Given the description of an element on the screen output the (x, y) to click on. 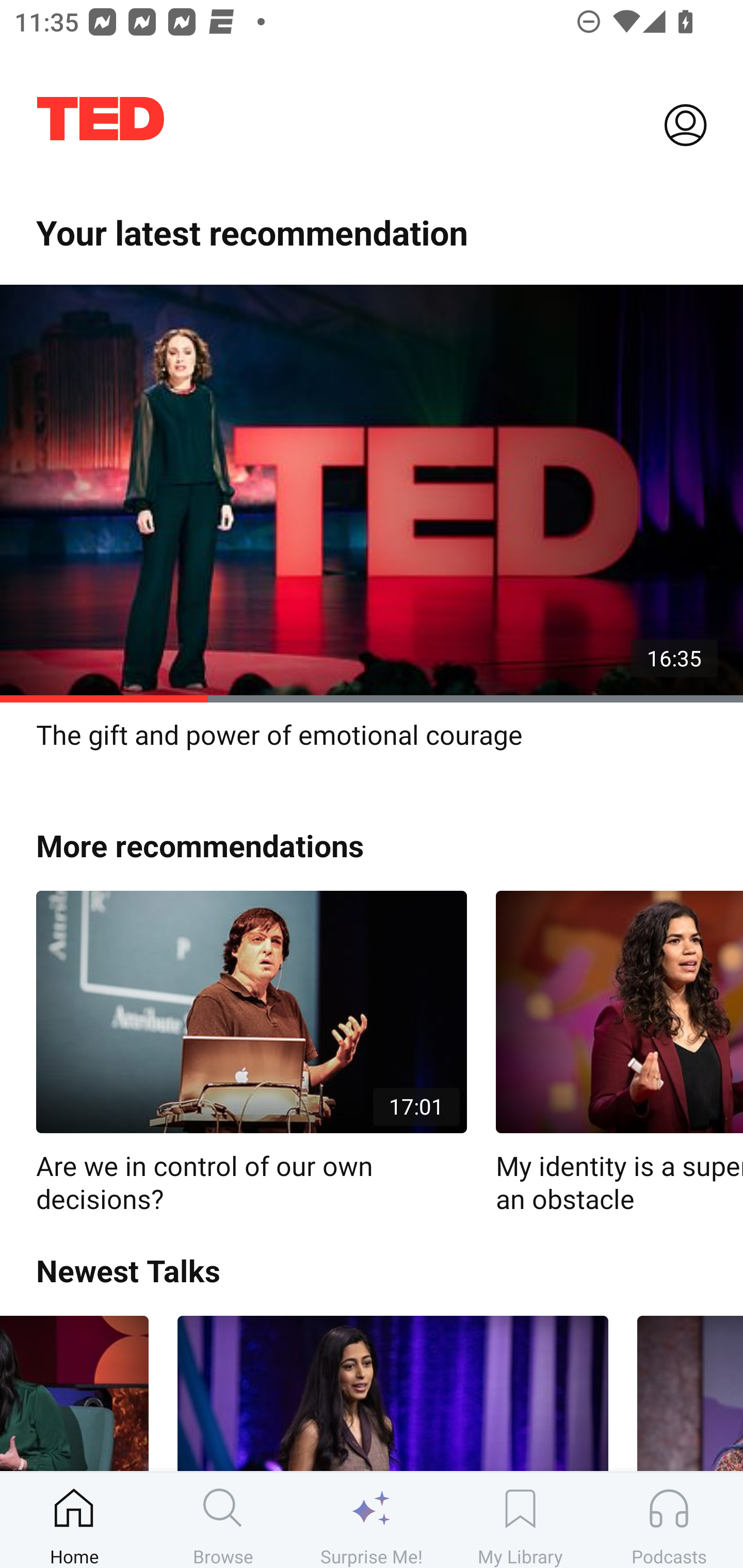
17:01 Are we in control of our own decisions? (251, 1053)
My identity is a superpower -- not an obstacle (619, 1053)
Home (74, 1520)
Browse (222, 1520)
Surprise Me! (371, 1520)
My Library (519, 1520)
Podcasts (668, 1520)
